Given the description of an element on the screen output the (x, y) to click on. 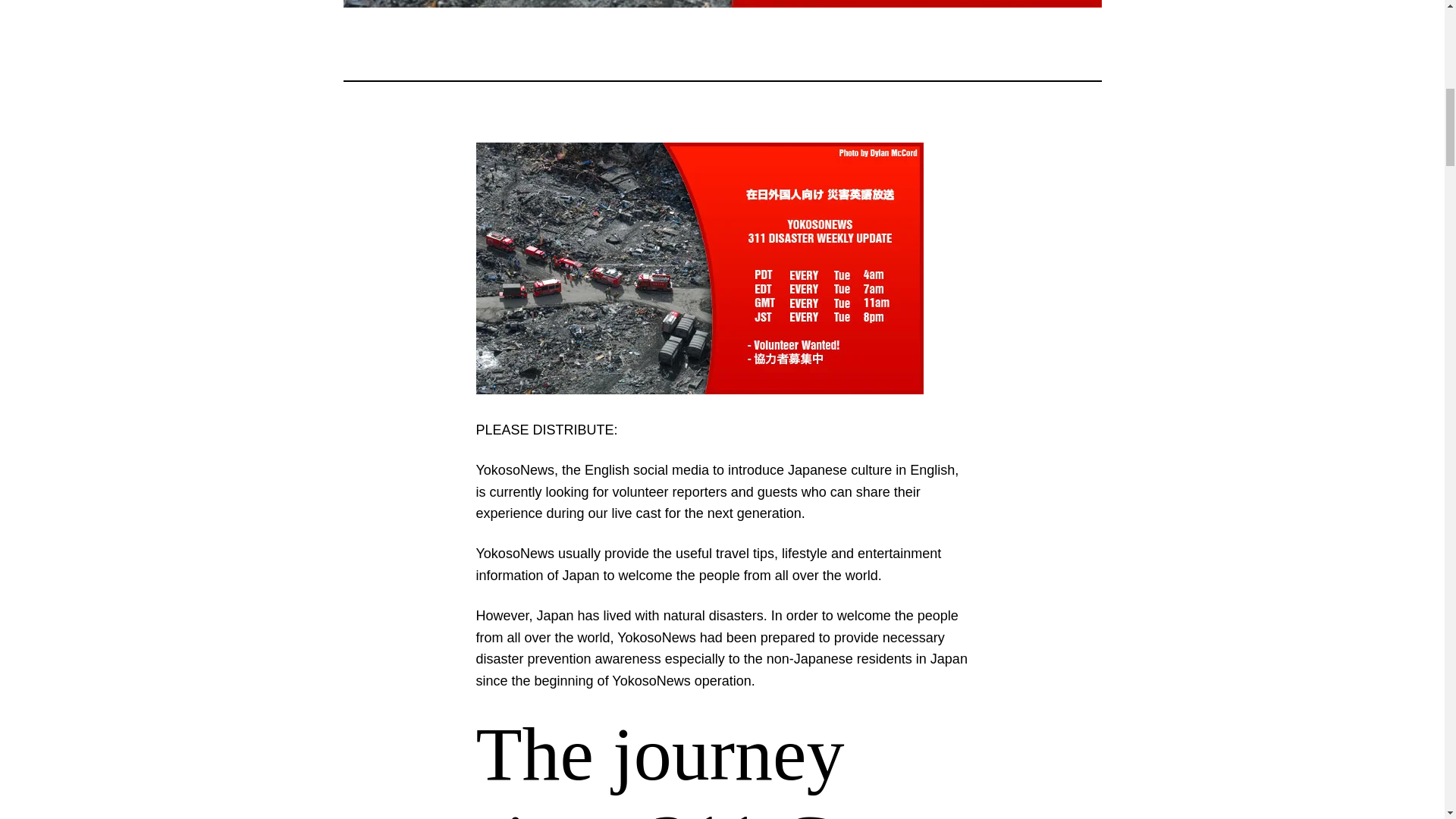
201105179.01.311update (699, 267)
